Given the description of an element on the screen output the (x, y) to click on. 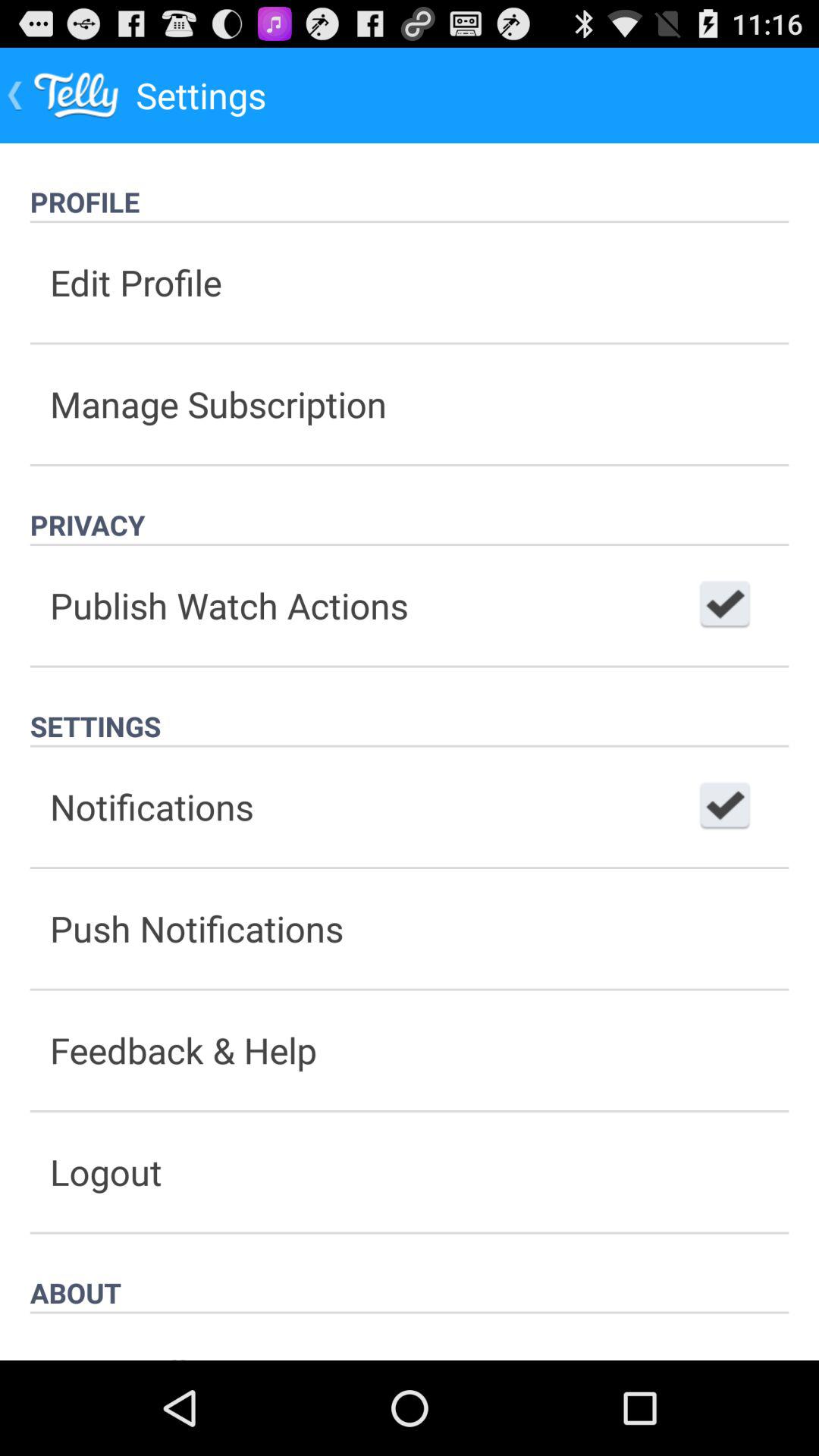
press the icon above logout item (409, 1050)
